Given the description of an element on the screen output the (x, y) to click on. 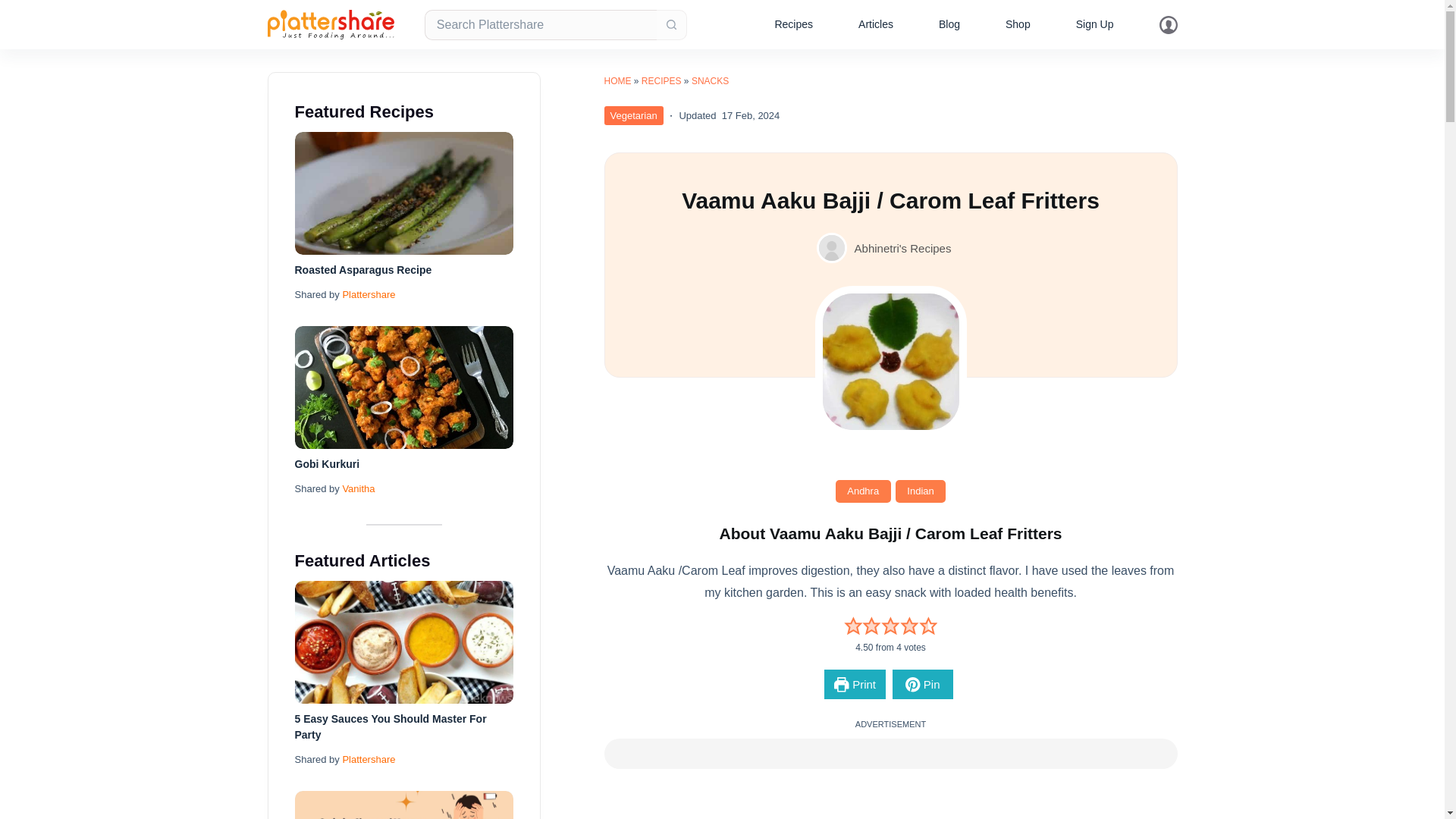
Print (854, 684)
Abhinetri's Recipes (903, 247)
Recipes (793, 24)
Search for... (540, 24)
Indian (920, 490)
RECIPES (661, 81)
Blog (948, 24)
HOME (617, 81)
Shop (1017, 24)
SNACKS (710, 81)
Skip to content (15, 7)
Andhra (863, 490)
Vegetarian (633, 115)
Pin (922, 684)
Articles (875, 24)
